Given the description of an element on the screen output the (x, y) to click on. 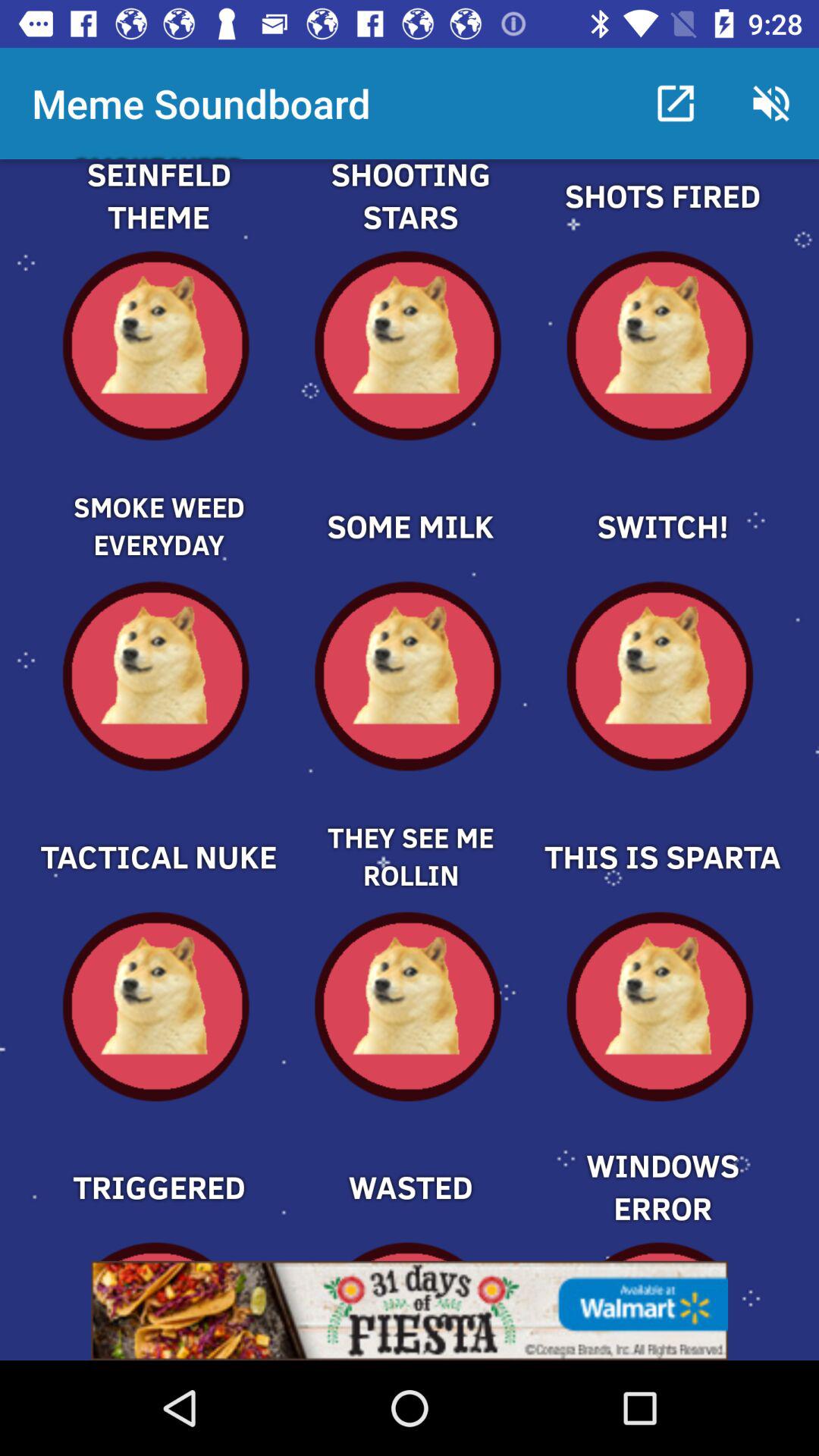
select one part off meme (660, 500)
